Given the description of an element on the screen output the (x, y) to click on. 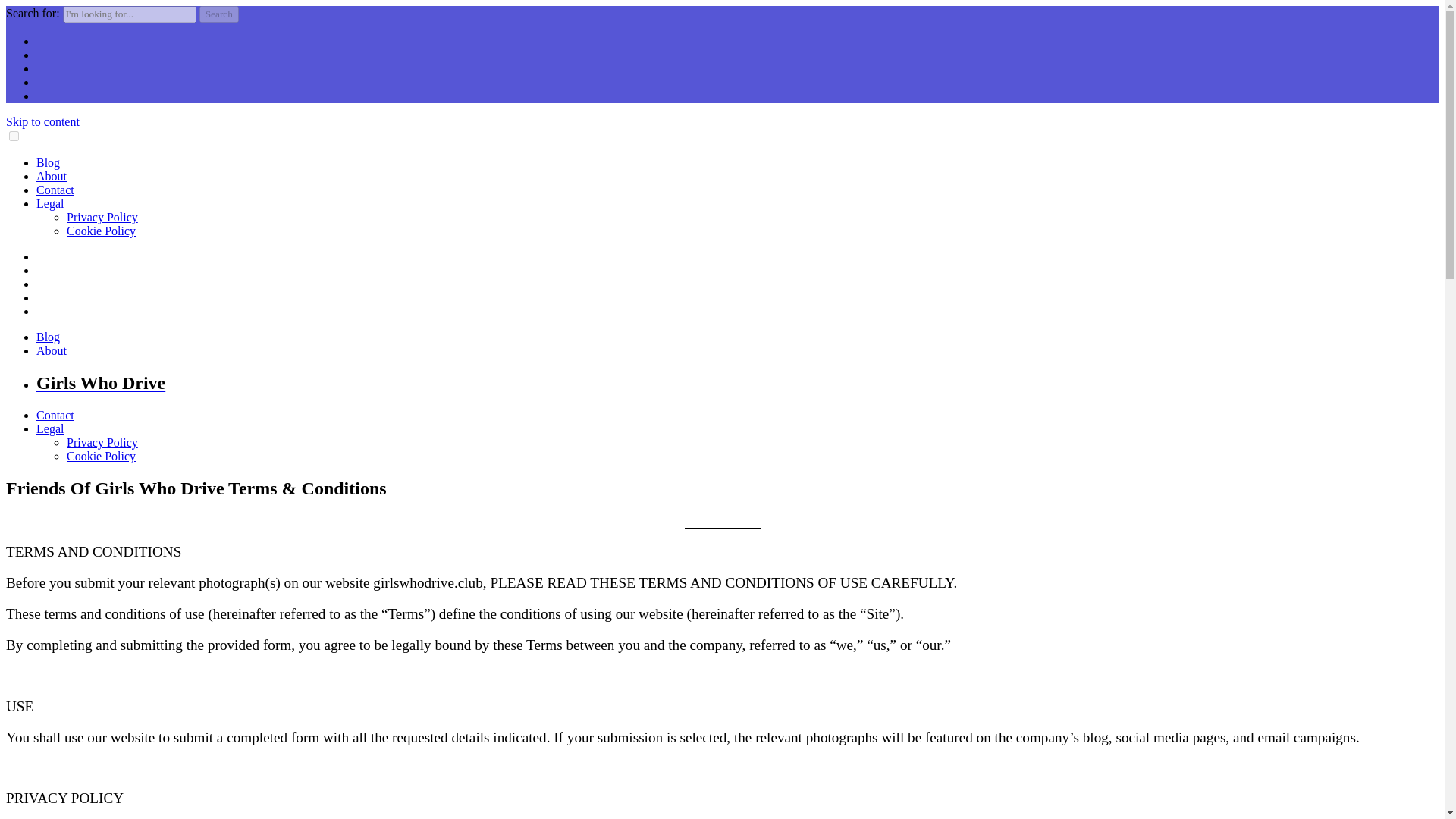
Search (218, 13)
Contact (55, 414)
Legal (50, 428)
Search (218, 13)
Cookie Policy (100, 230)
Cookie Policy (100, 455)
Blog (47, 162)
Skip to content (42, 121)
Blog (47, 336)
Privacy Policy (102, 441)
Privacy Policy (102, 216)
Contact (55, 189)
About (51, 350)
About (51, 175)
Legal (50, 203)
